Given the description of an element on the screen output the (x, y) to click on. 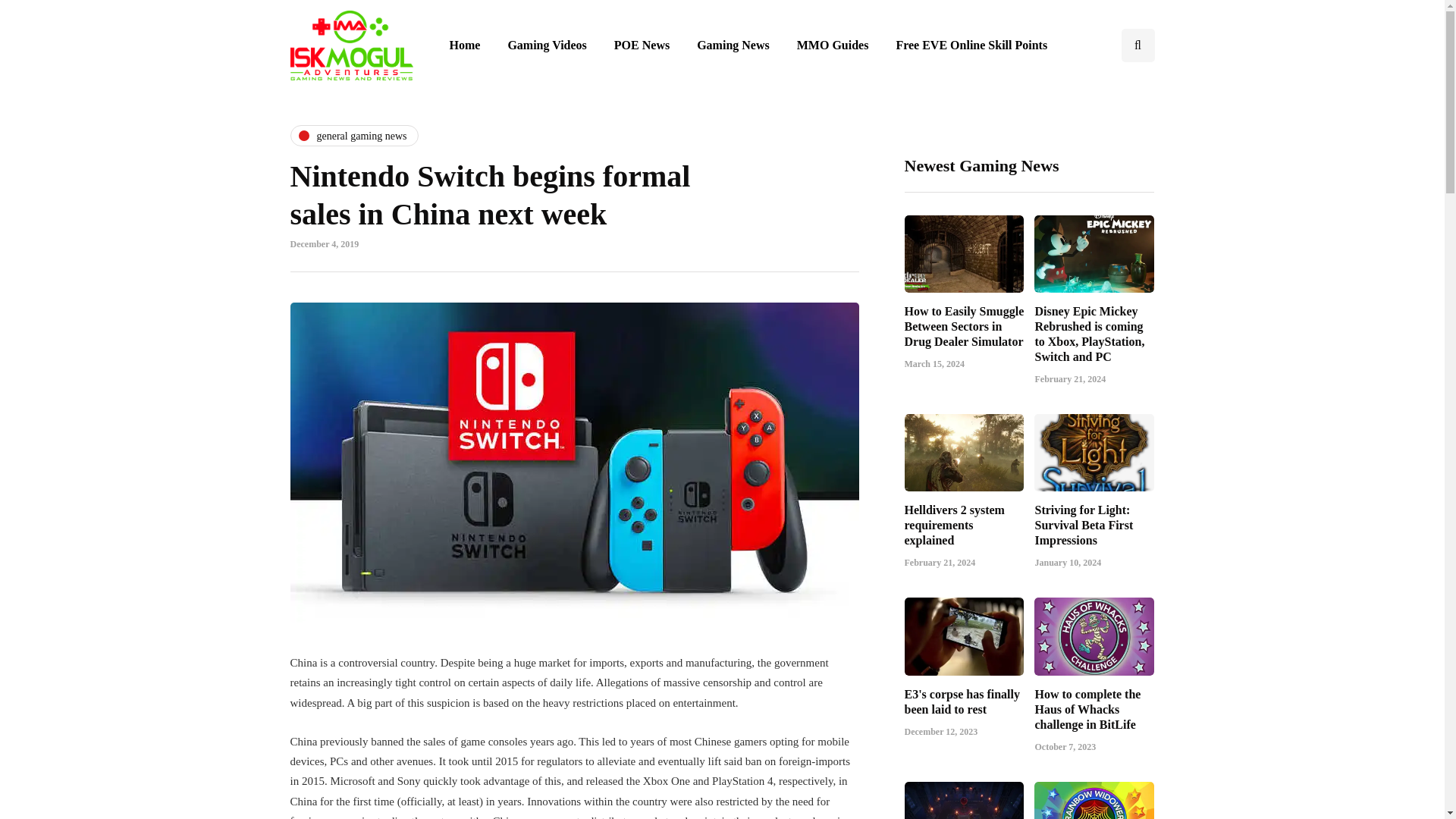
Gaming News (732, 45)
MMO Guides (832, 45)
Home (464, 45)
POE News (640, 45)
Free EVE Online Skill Points (971, 45)
Gaming Videos (546, 45)
